Given the description of an element on the screen output the (x, y) to click on. 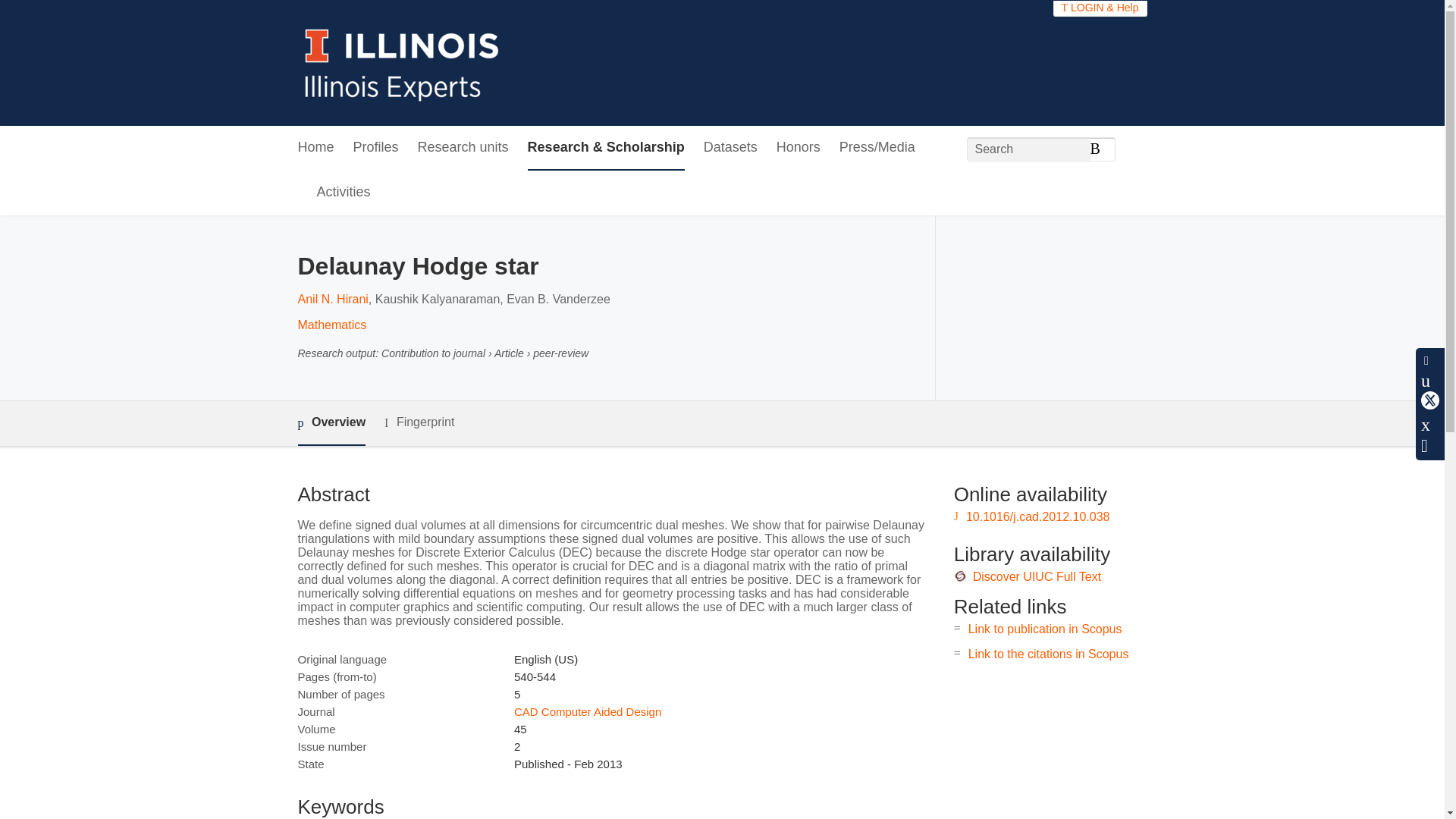
University of Illinois Urbana-Champaign Home (402, 62)
Profiles (375, 148)
Datasets (730, 148)
Mathematics (331, 324)
CAD Computer Aided Design (587, 711)
Fingerprint (419, 422)
Honors (798, 148)
Anil N. Hirani (332, 298)
Link to publication in Scopus (1045, 628)
Research units (462, 148)
Activities (344, 192)
Overview (331, 423)
Link to the citations in Scopus (1048, 653)
Discover UIUC Full Text (1037, 576)
